Given the description of an element on the screen output the (x, y) to click on. 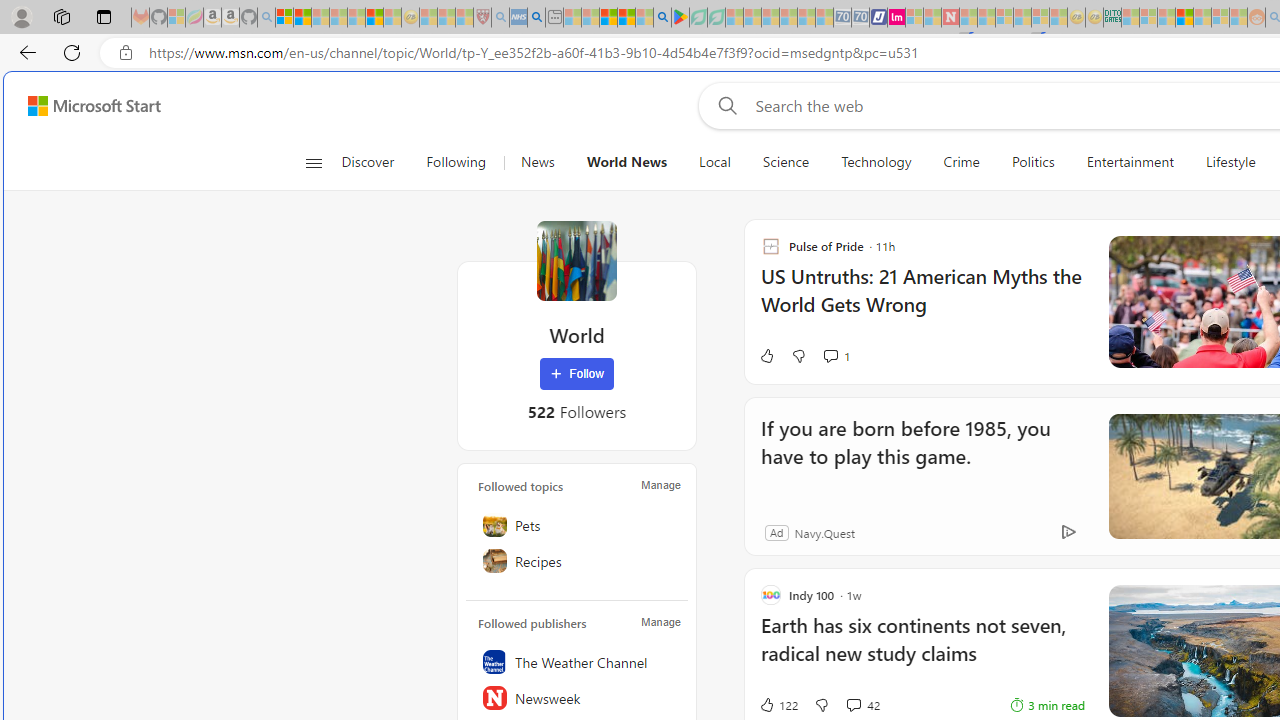
Pets (577, 525)
Like (766, 355)
